Given the description of an element on the screen output the (x, y) to click on. 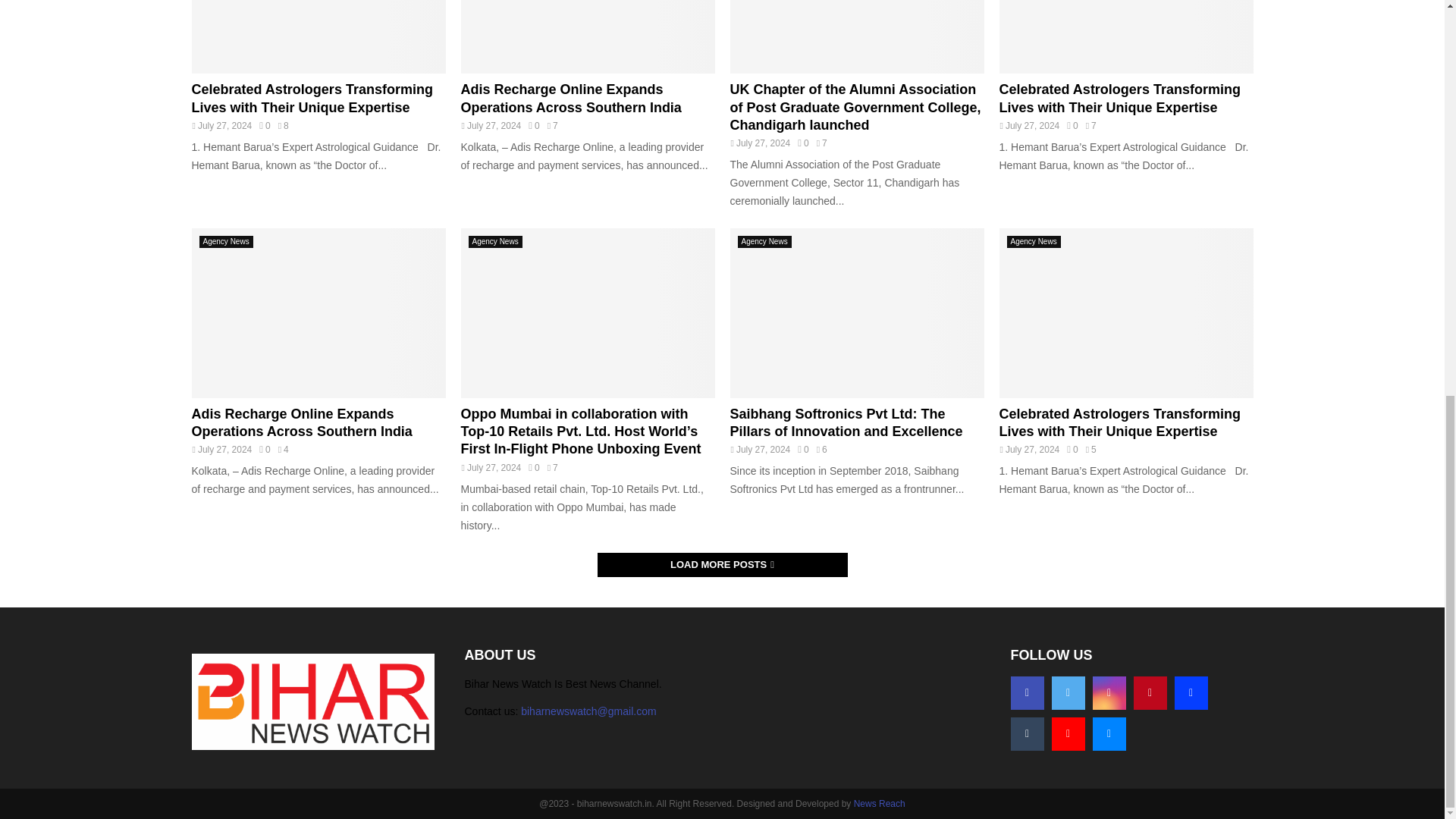
0 (533, 125)
0 (1072, 125)
0 (264, 125)
0 (802, 143)
